Given the description of an element on the screen output the (x, y) to click on. 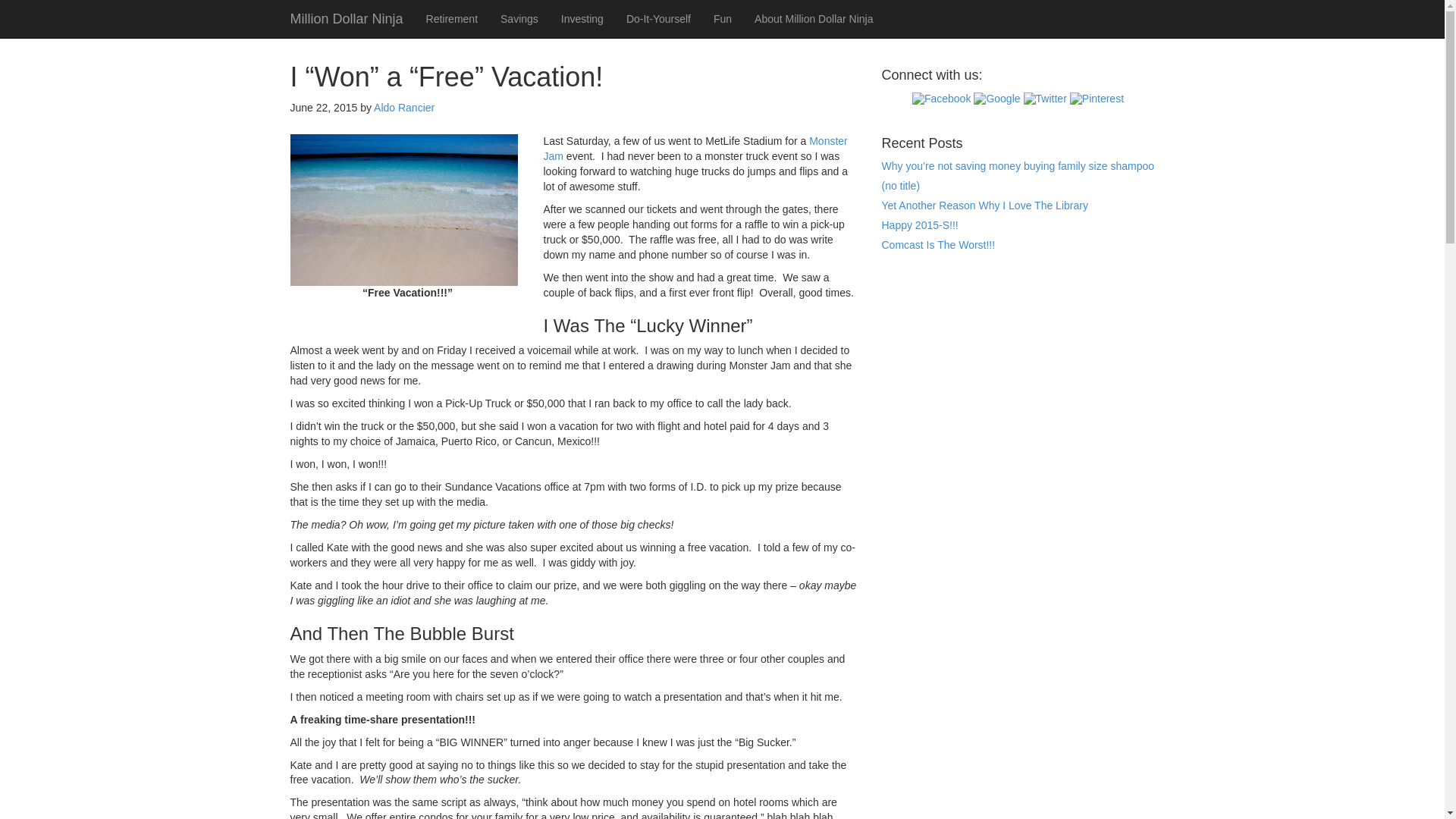
Savings (519, 18)
Retirement (451, 18)
Investing (582, 18)
Fun (721, 18)
Investing (582, 18)
Retirement (451, 18)
Monday, June 22, 2015, 7:00 am (322, 107)
Do-It-Yourself (657, 18)
Million Dollar Ninja (346, 18)
Fun (721, 18)
